Given the description of an element on the screen output the (x, y) to click on. 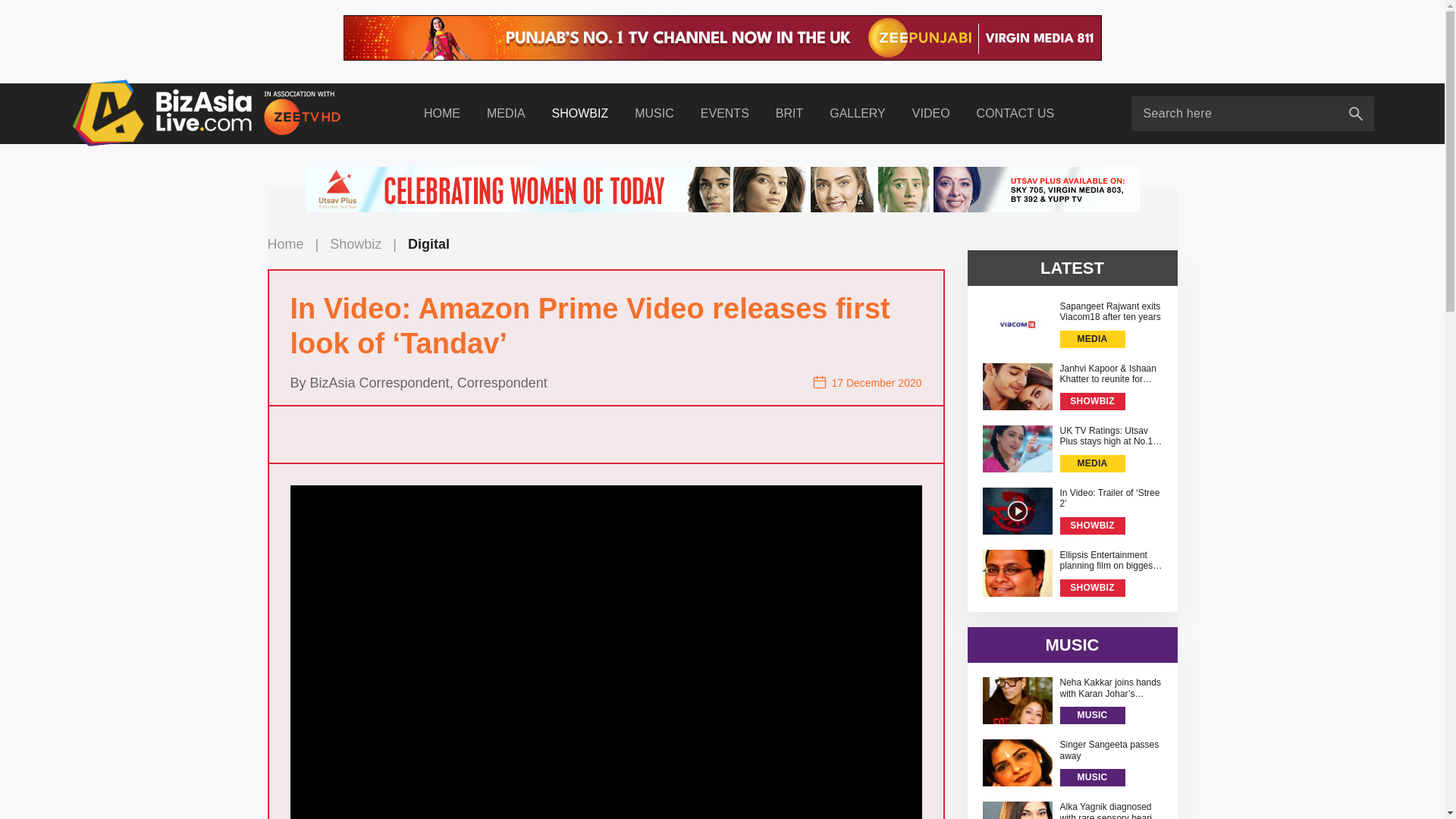
SHOWBIZ (579, 113)
MEDIA (505, 113)
MUSIC (654, 113)
Top header Banner (721, 37)
EVENTS (724, 113)
HOME (441, 113)
BRIT (788, 113)
GALLERY (857, 113)
